Given the description of an element on the screen output the (x, y) to click on. 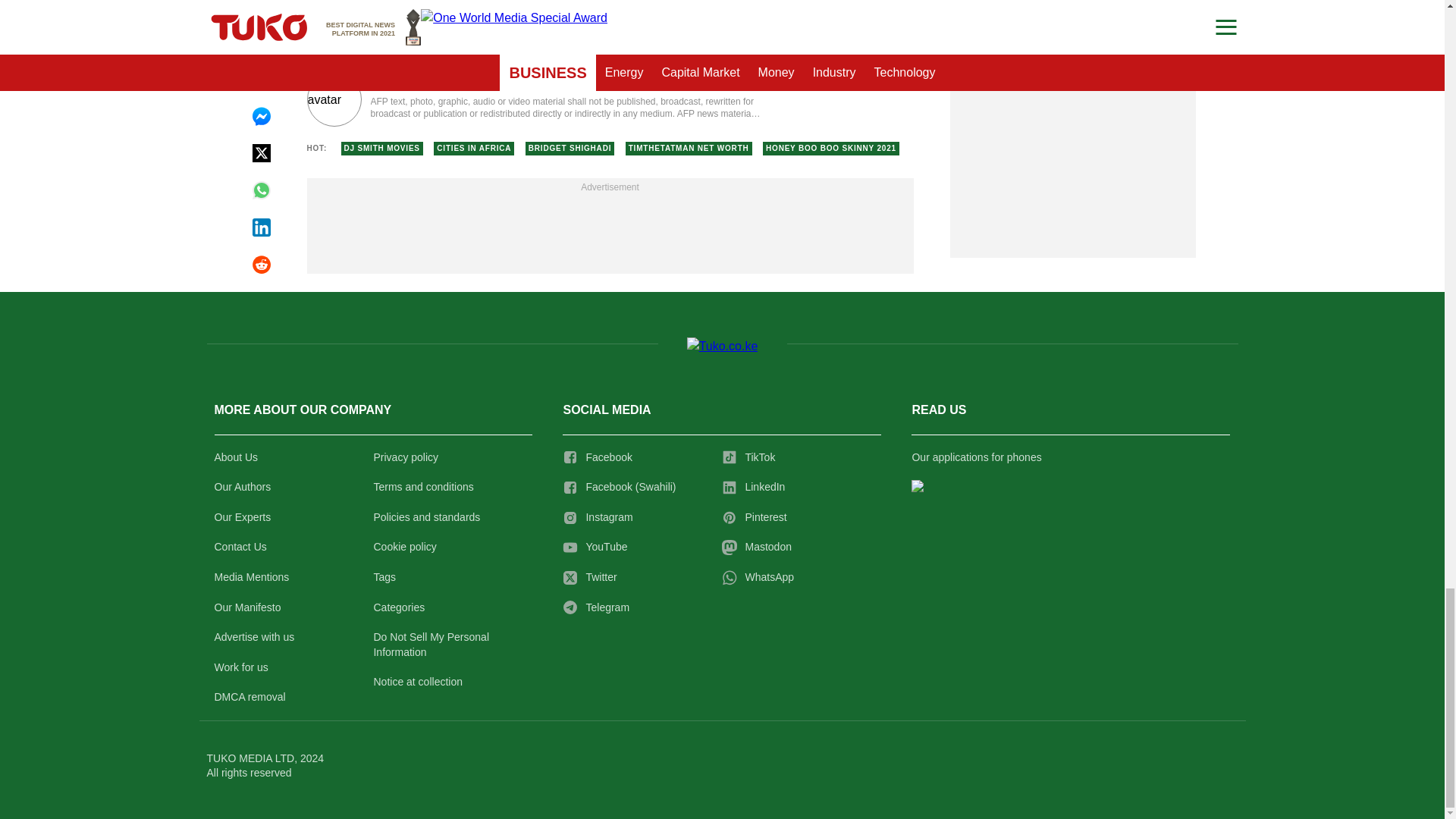
Author page (533, 99)
